Given the description of an element on the screen output the (x, y) to click on. 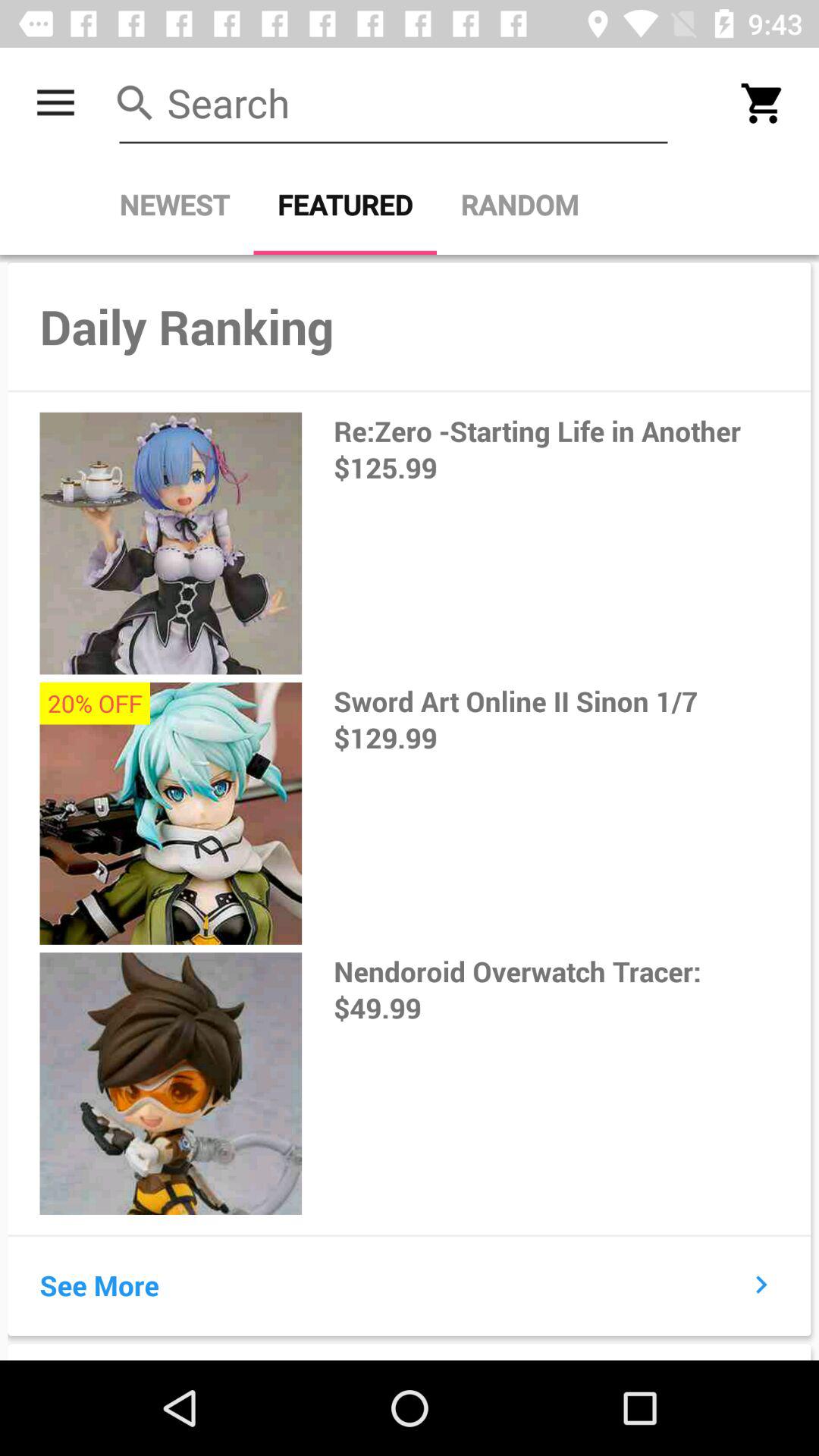
press the item next to the random icon (344, 204)
